Given the description of an element on the screen output the (x, y) to click on. 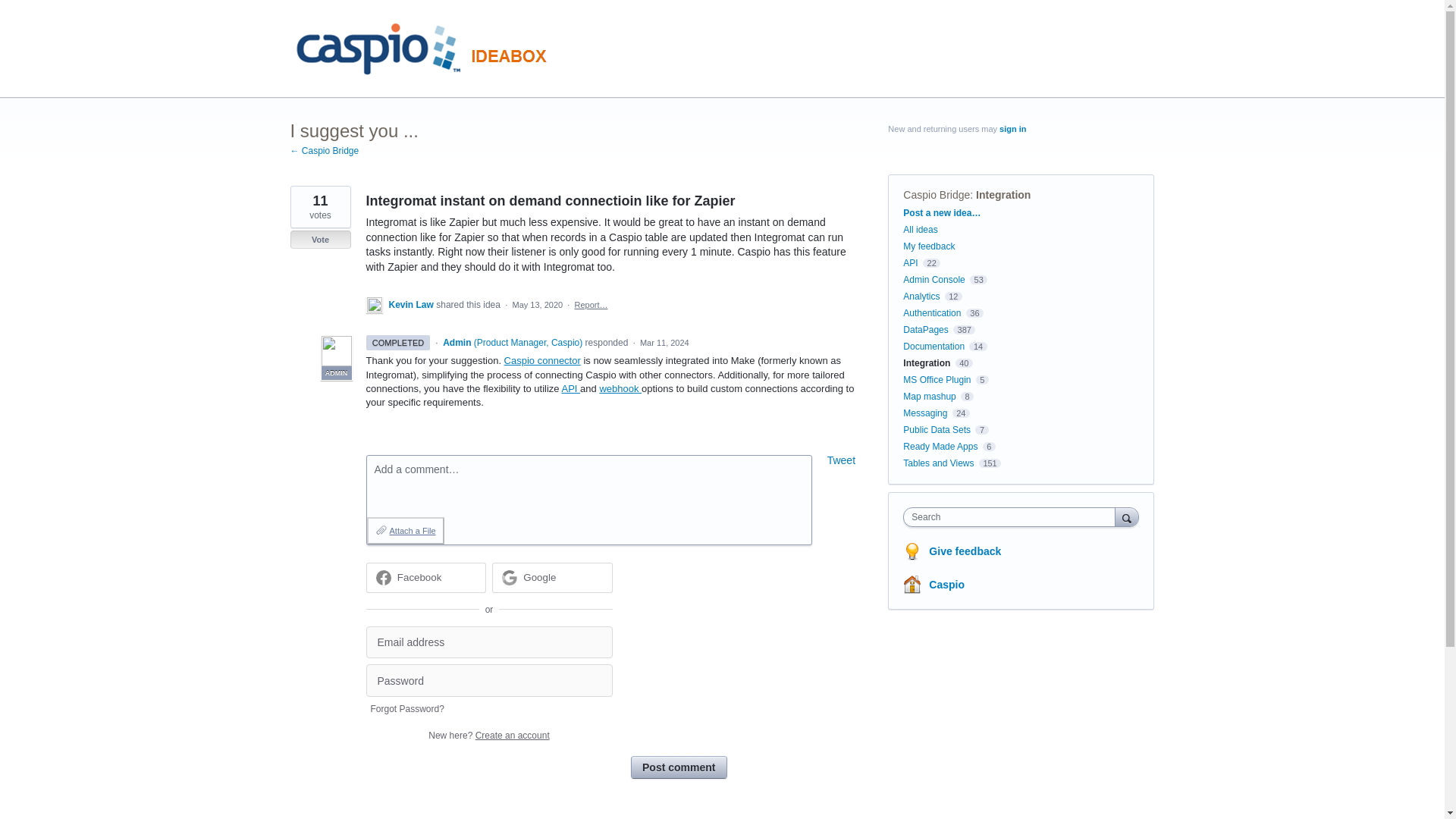
Google sign in (552, 577)
Facebook (425, 577)
Tweet (841, 460)
Caspio connector (541, 360)
New here? Create an account (488, 735)
Idea has been closed (319, 239)
This idea is completed - updated 4 months ago (397, 342)
Facebook (419, 577)
Caspio Bridge Ideabox (424, 48)
Google (539, 577)
Vote (319, 239)
Forgot Password? (406, 708)
Facebook sign in (425, 577)
Kevin Law (411, 304)
Skip to content (12, 12)
